Given the description of an element on the screen output the (x, y) to click on. 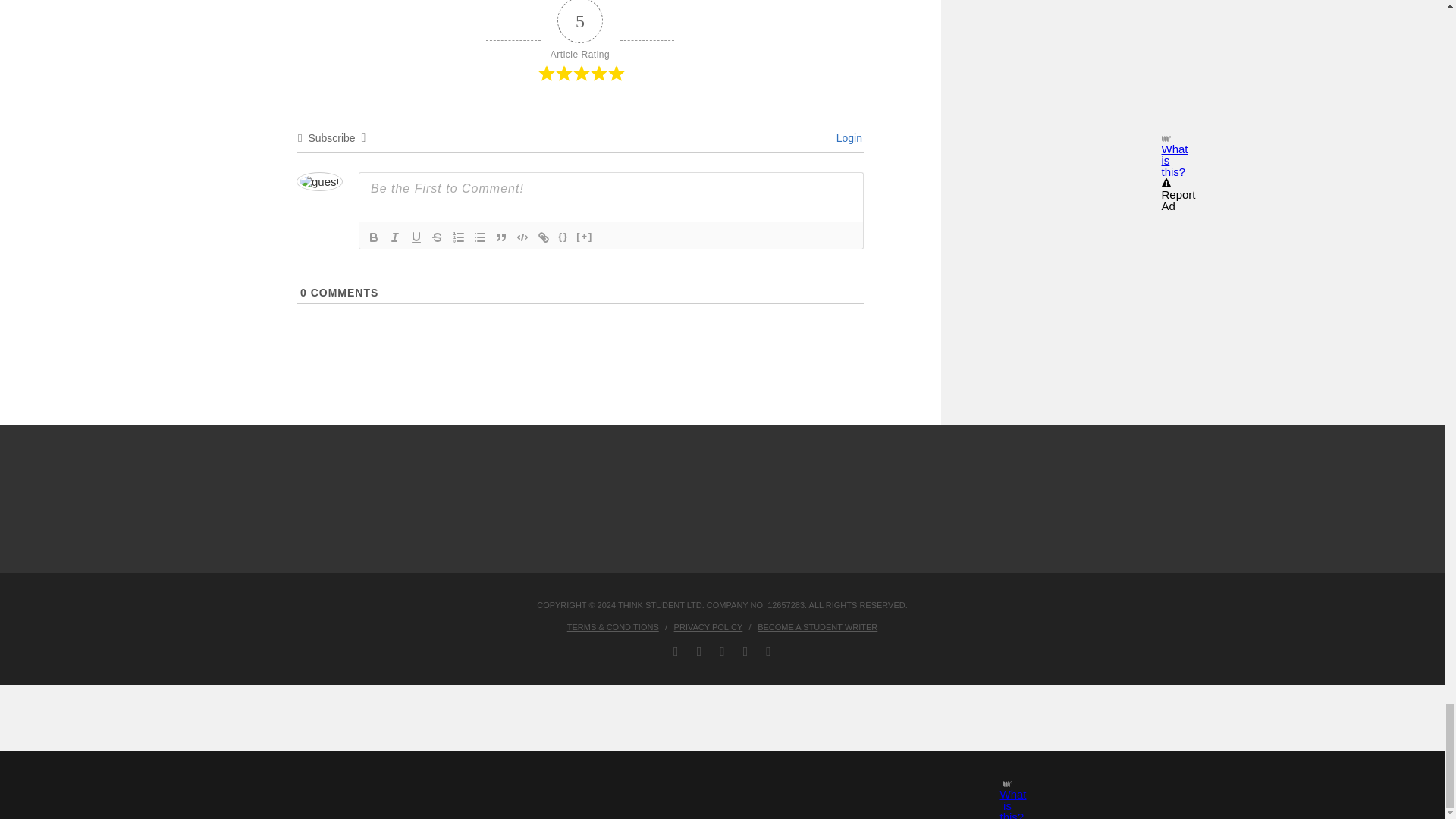
Login (846, 137)
